Given the description of an element on the screen output the (x, y) to click on. 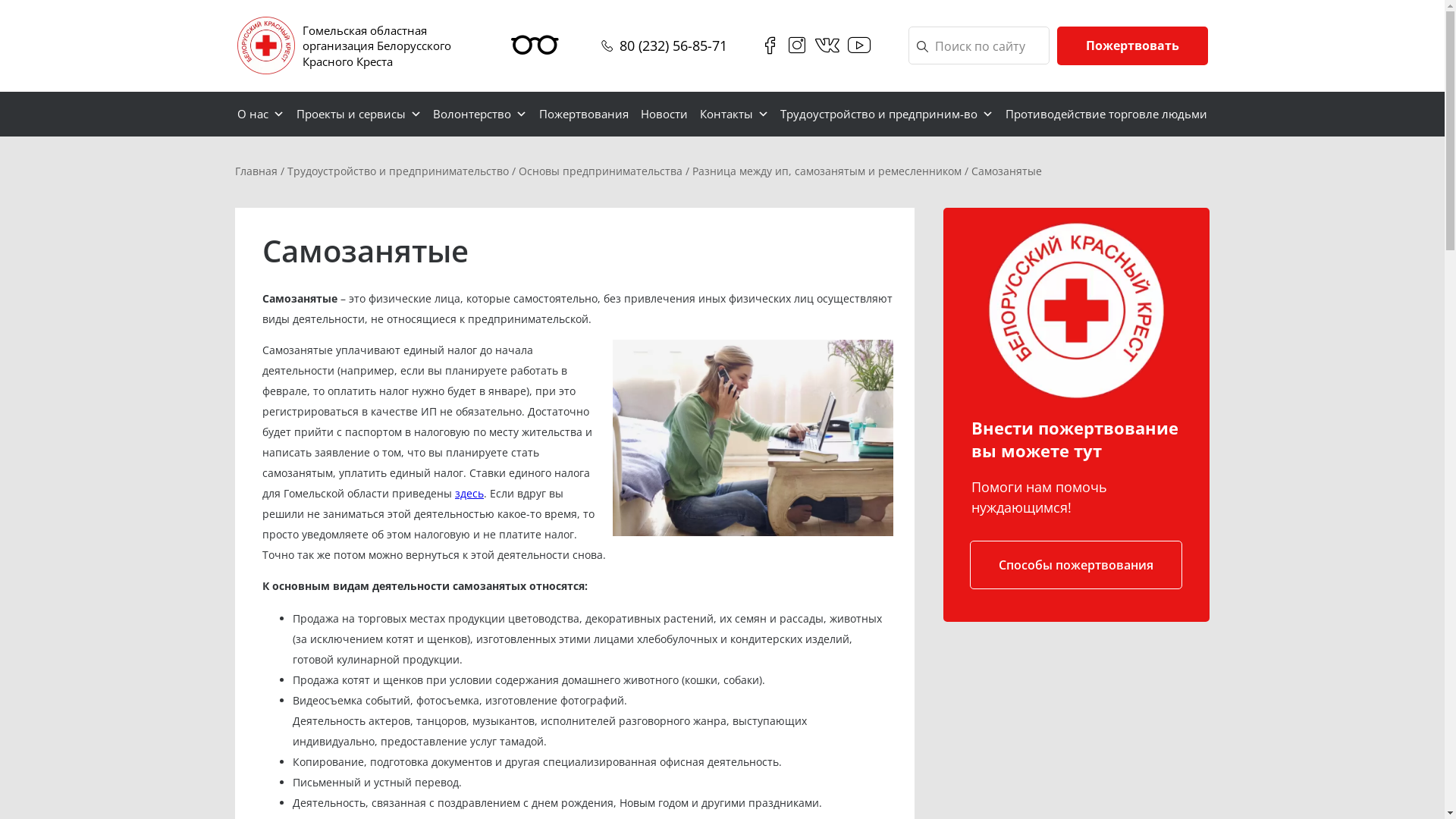
80 (232) 56-85-71 Element type: text (672, 45)
